Given the description of an element on the screen output the (x, y) to click on. 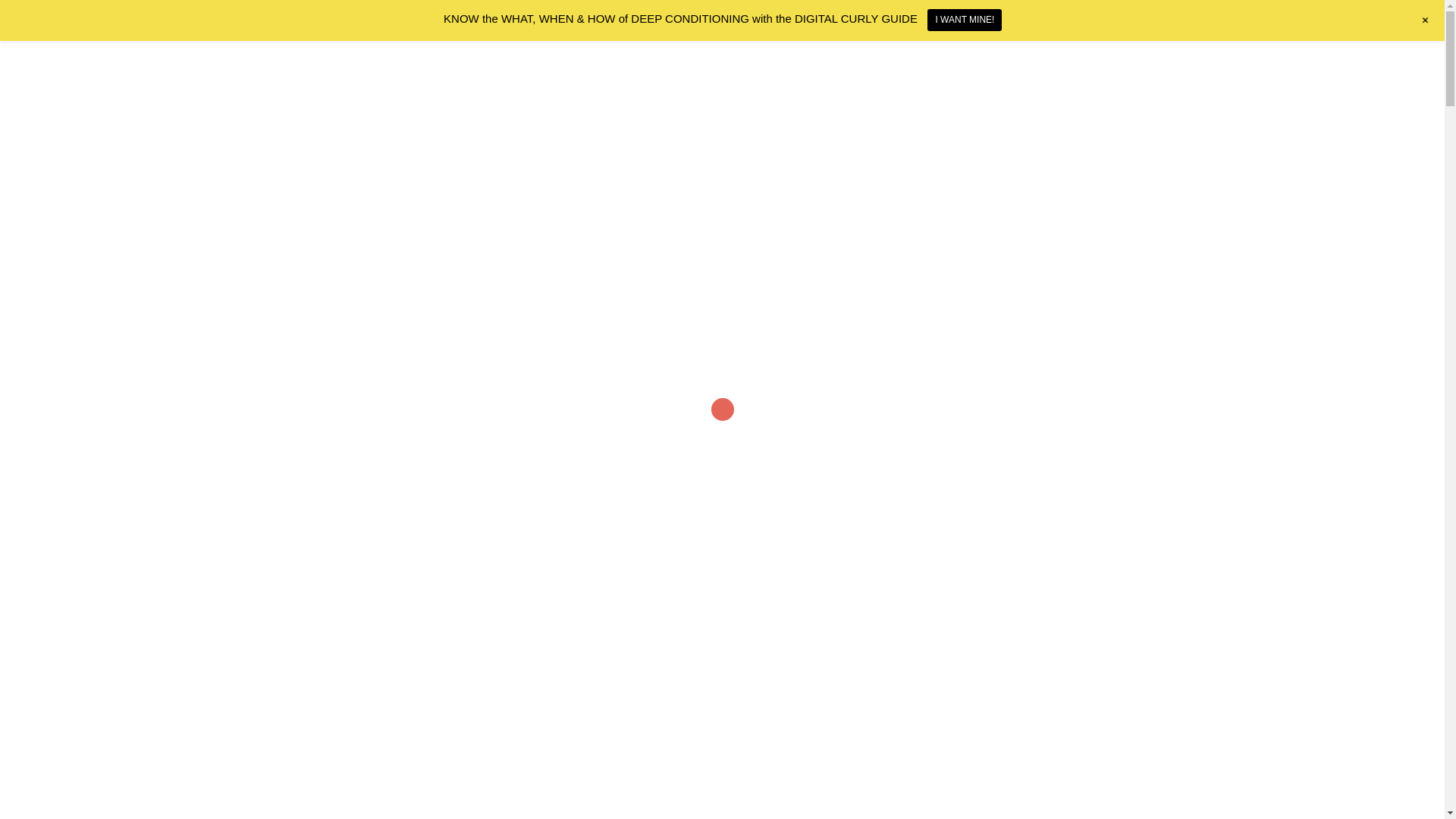
Curly Hair Lounge (384, 51)
Contact (1124, 53)
About (983, 53)
Home (934, 53)
Blog (1075, 53)
Shop (1031, 53)
HI, I'M MONICA! (1054, 265)
